Given the description of an element on the screen output the (x, y) to click on. 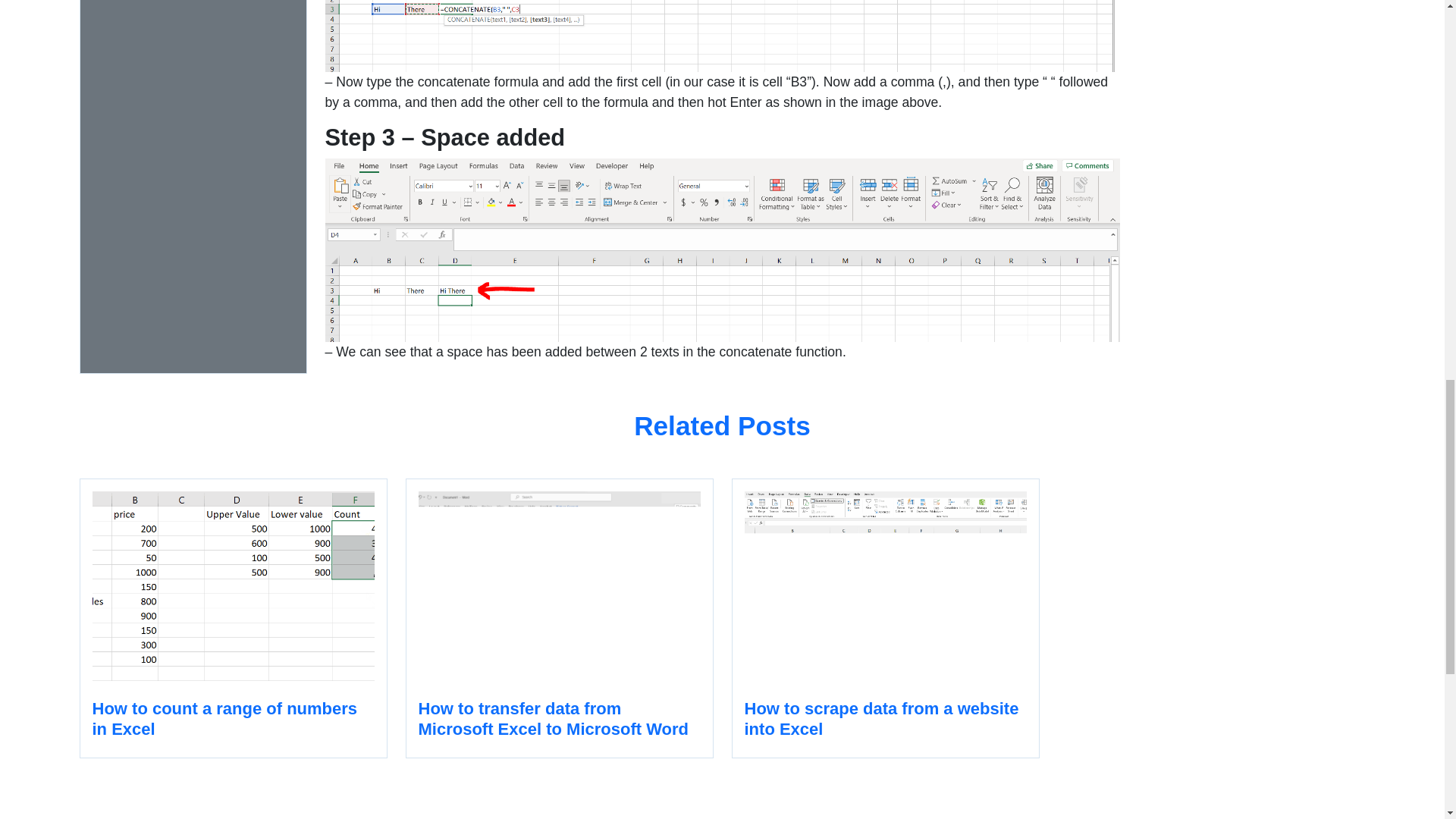
How to scrape data from a website into Excel (884, 618)
How to transfer data from Microsoft Excel to Microsoft Word (558, 618)
How to count a range of numbers in Excel (232, 618)
